Given the description of an element on the screen output the (x, y) to click on. 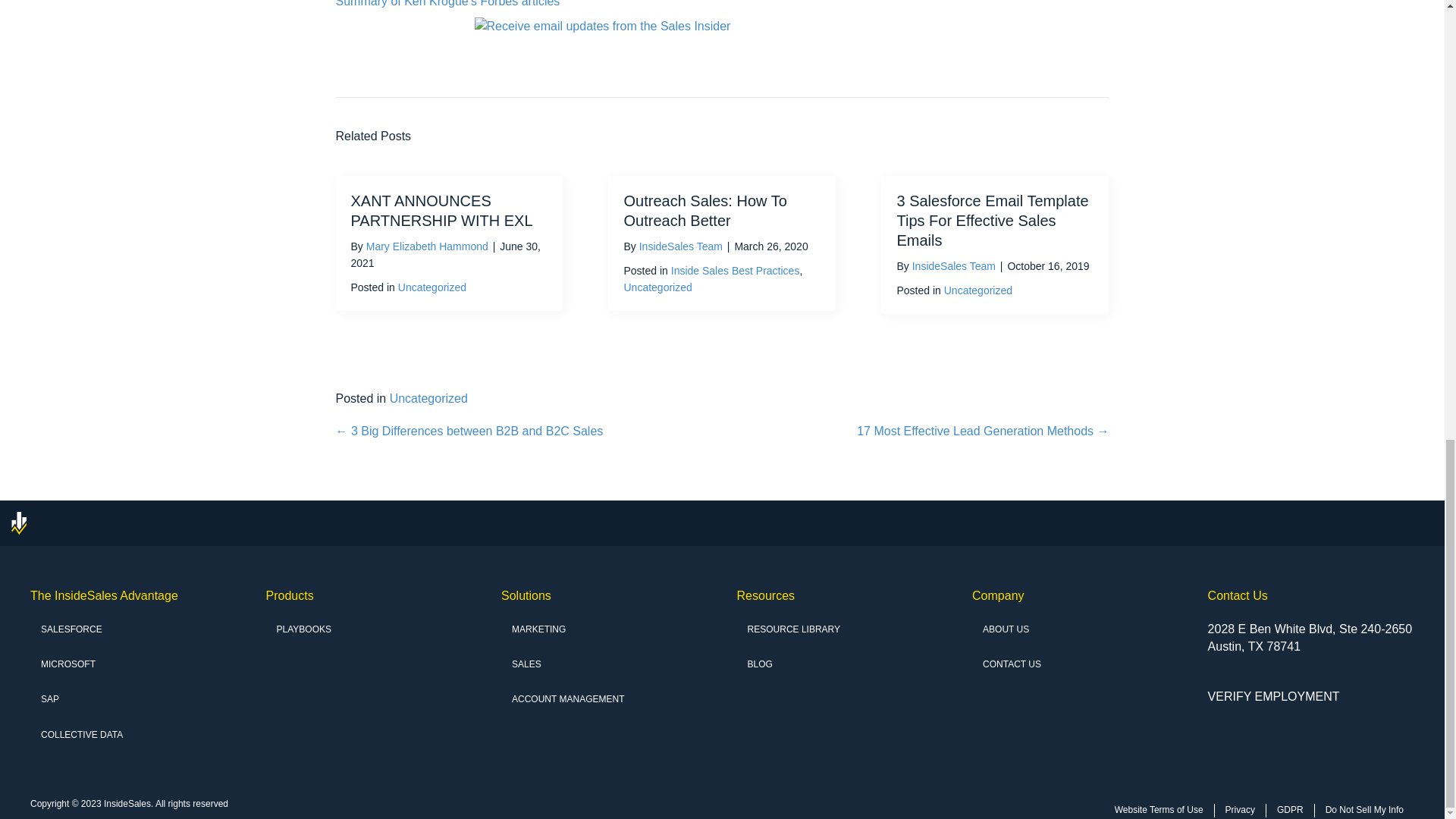
XANT ANNOUNCES PARTNERSHIP WITH EXL (441, 210)
Outreach Sales: How To Outreach Better (704, 210)
Subscribe to the Sales Insider (722, 37)
3 Salesforce Email Template Tips For Effective Sales Emails (991, 220)
InsideSales-Logo-small (18, 522)
